Given the description of an element on the screen output the (x, y) to click on. 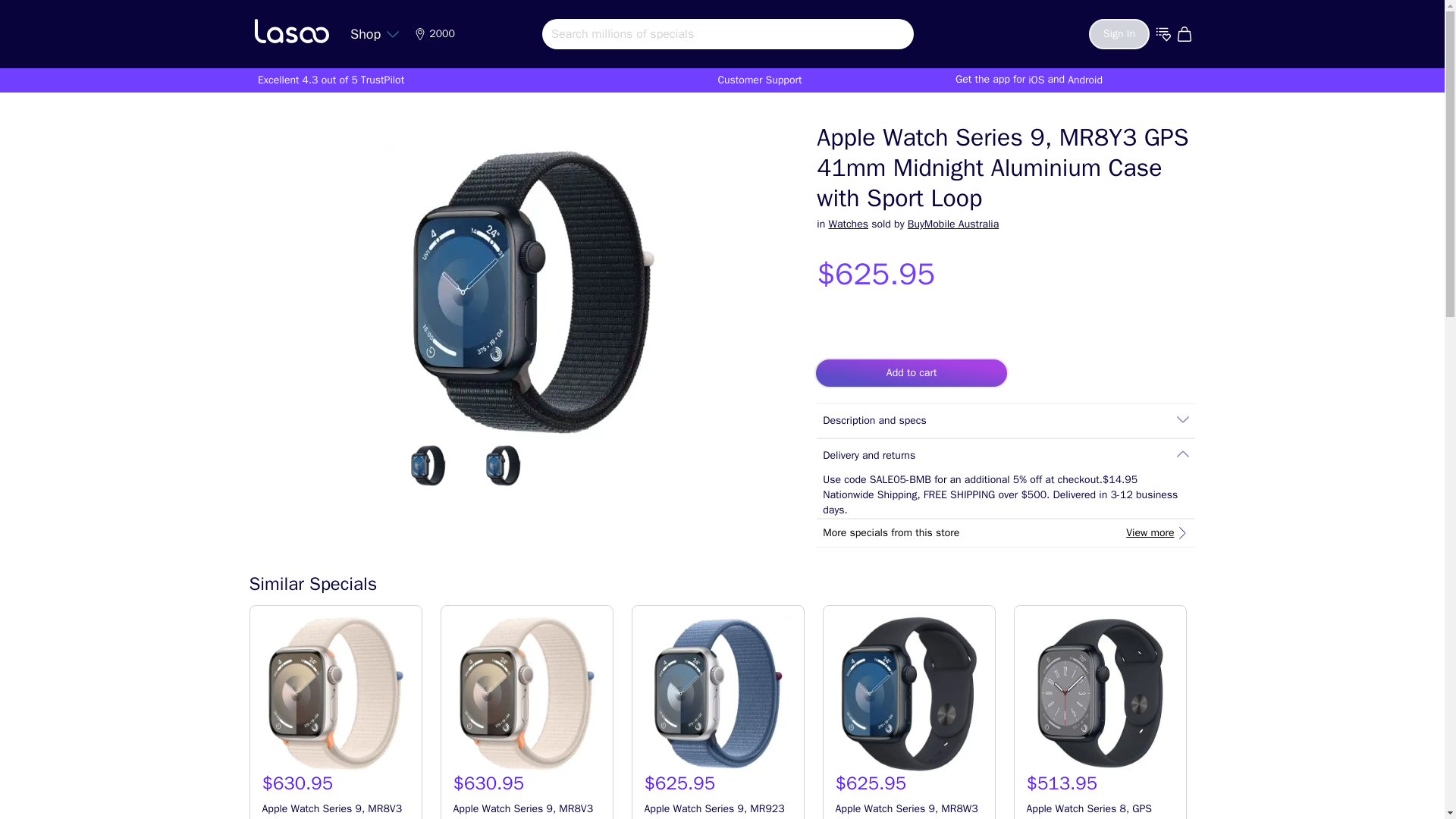
Go to wishlist (1163, 33)
Shop (374, 33)
Go to cart (1185, 33)
lasoo (291, 30)
